Given the description of an element on the screen output the (x, y) to click on. 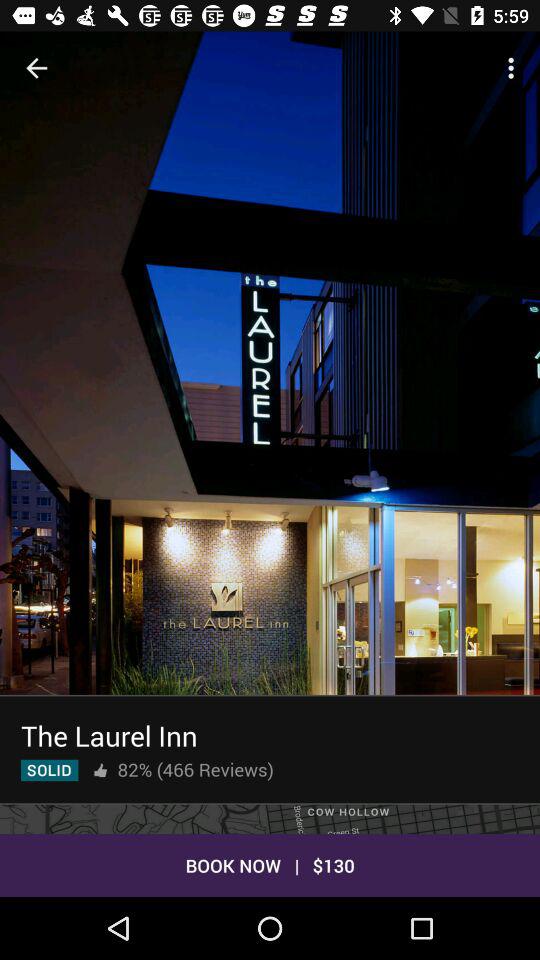
open item above 82% (466 reviews) item (109, 735)
